Given the description of an element on the screen output the (x, y) to click on. 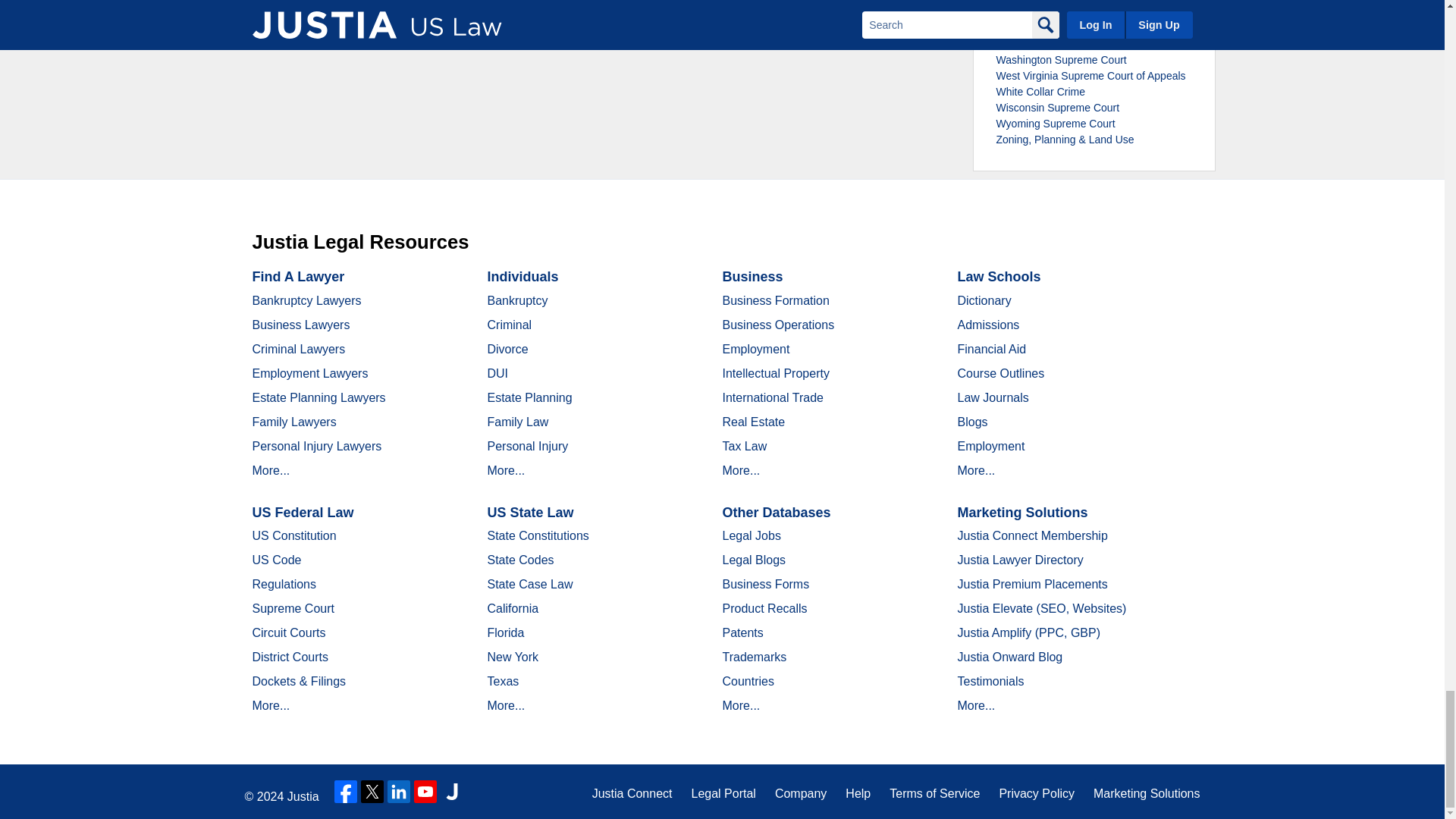
Justia Lawyer Directory (452, 791)
Twitter (372, 791)
LinkedIn (398, 791)
Facebook (345, 791)
YouTube (424, 791)
